Given the description of an element on the screen output the (x, y) to click on. 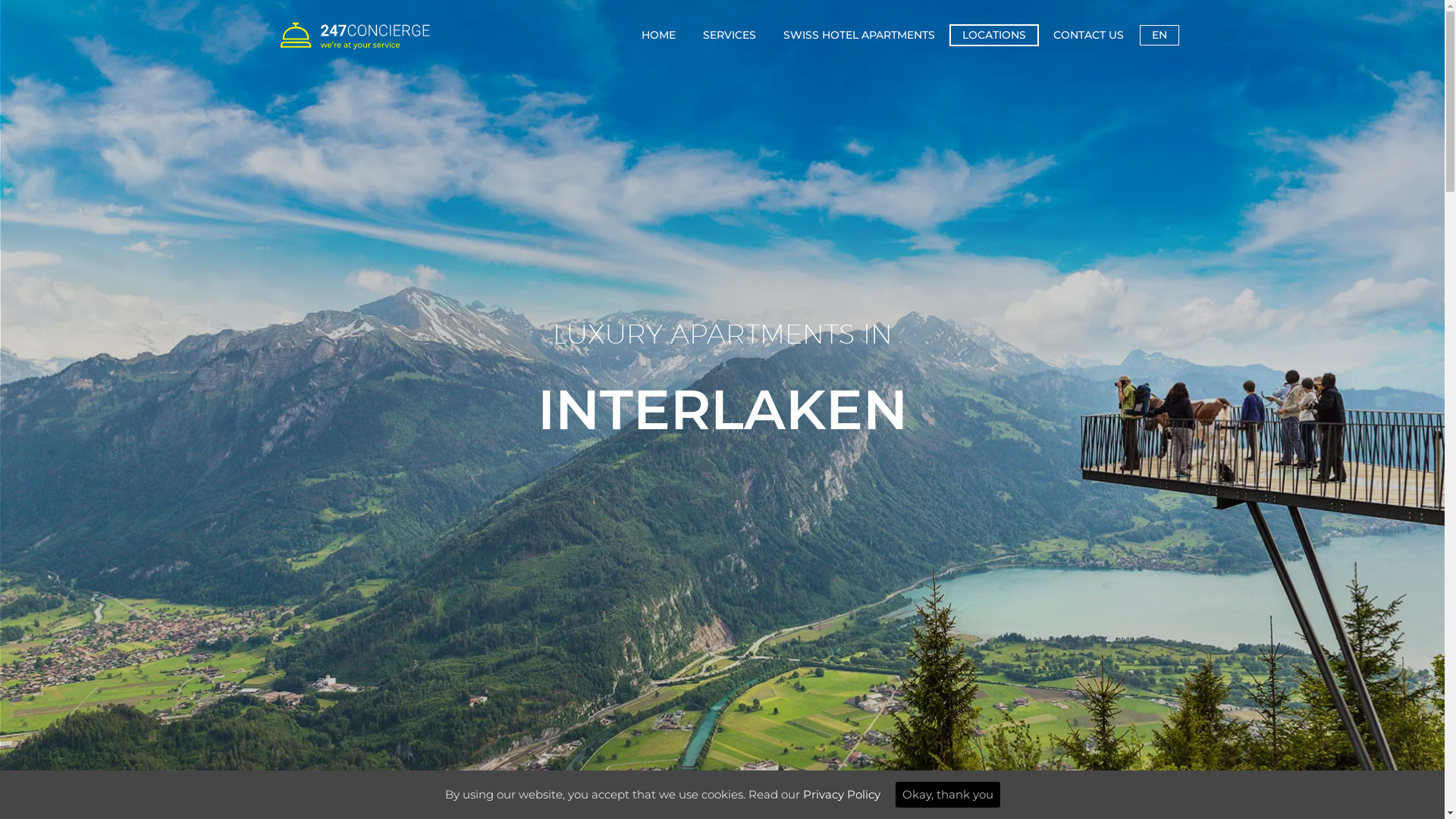
SWISS HOTEL APARTMENTS Element type: text (858, 34)
HOME Element type: text (657, 34)
SERVICES Element type: text (729, 34)
CONTACT US Element type: text (1088, 34)
Okay, thank you Element type: text (946, 794)
EN Element type: text (1158, 35)
Privacy Policy Element type: text (840, 794)
LOCATIONS Element type: text (993, 35)
